Given the description of an element on the screen output the (x, y) to click on. 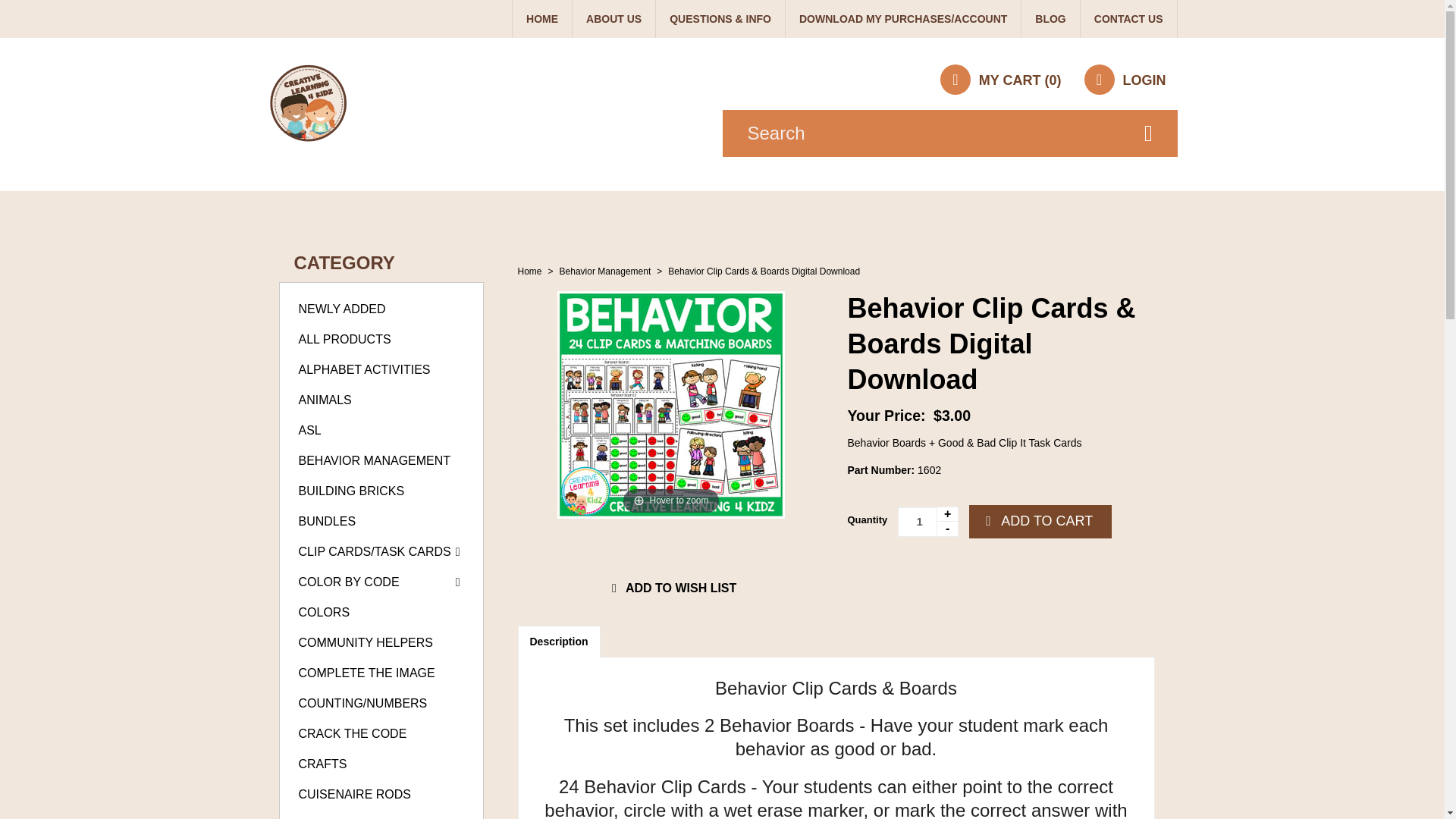
BEHAVIOR MANAGEMENT (374, 460)
BUNDLES (327, 521)
BLOG (1050, 18)
COLORS (324, 612)
ANIMALS (325, 399)
LOGIN (1124, 79)
1 (928, 521)
ALL PRODUCTS (344, 338)
ABOUT US (613, 18)
HOME (542, 18)
COMPLETE THE IMAGE (366, 672)
BUILDING BRICKS (351, 490)
COMMUNITY HELPERS (365, 642)
COLOR BY CODE (348, 581)
NEWLY ADDED (341, 308)
